Given the description of an element on the screen output the (x, y) to click on. 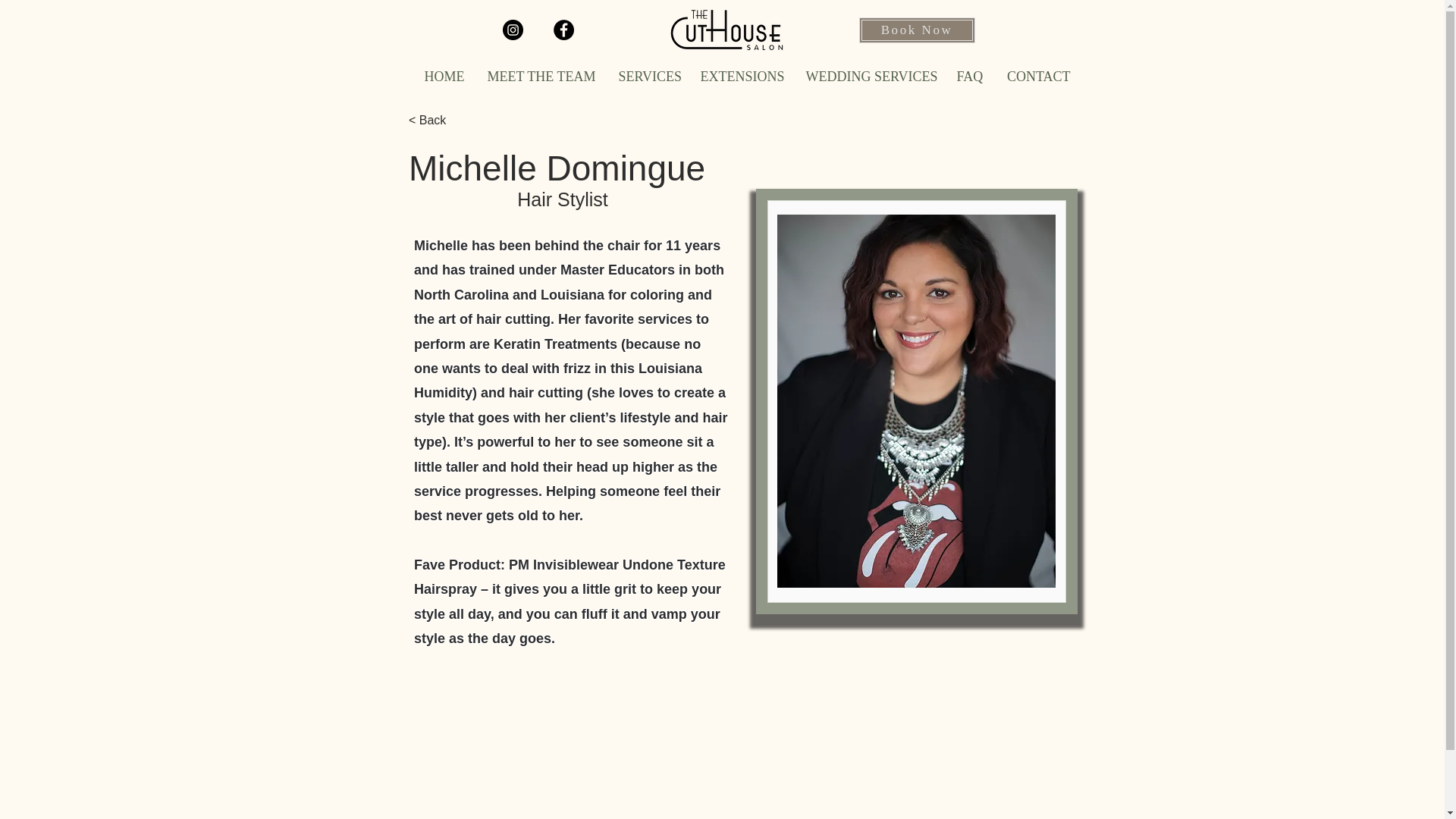
HOME (443, 76)
MEET THE TEAM (541, 76)
CONTACT (1036, 76)
FAQ (968, 76)
EXTENSIONS (740, 76)
SERVICES (647, 76)
WEDDING SERVICES (869, 76)
Book Now (916, 30)
